Given the description of an element on the screen output the (x, y) to click on. 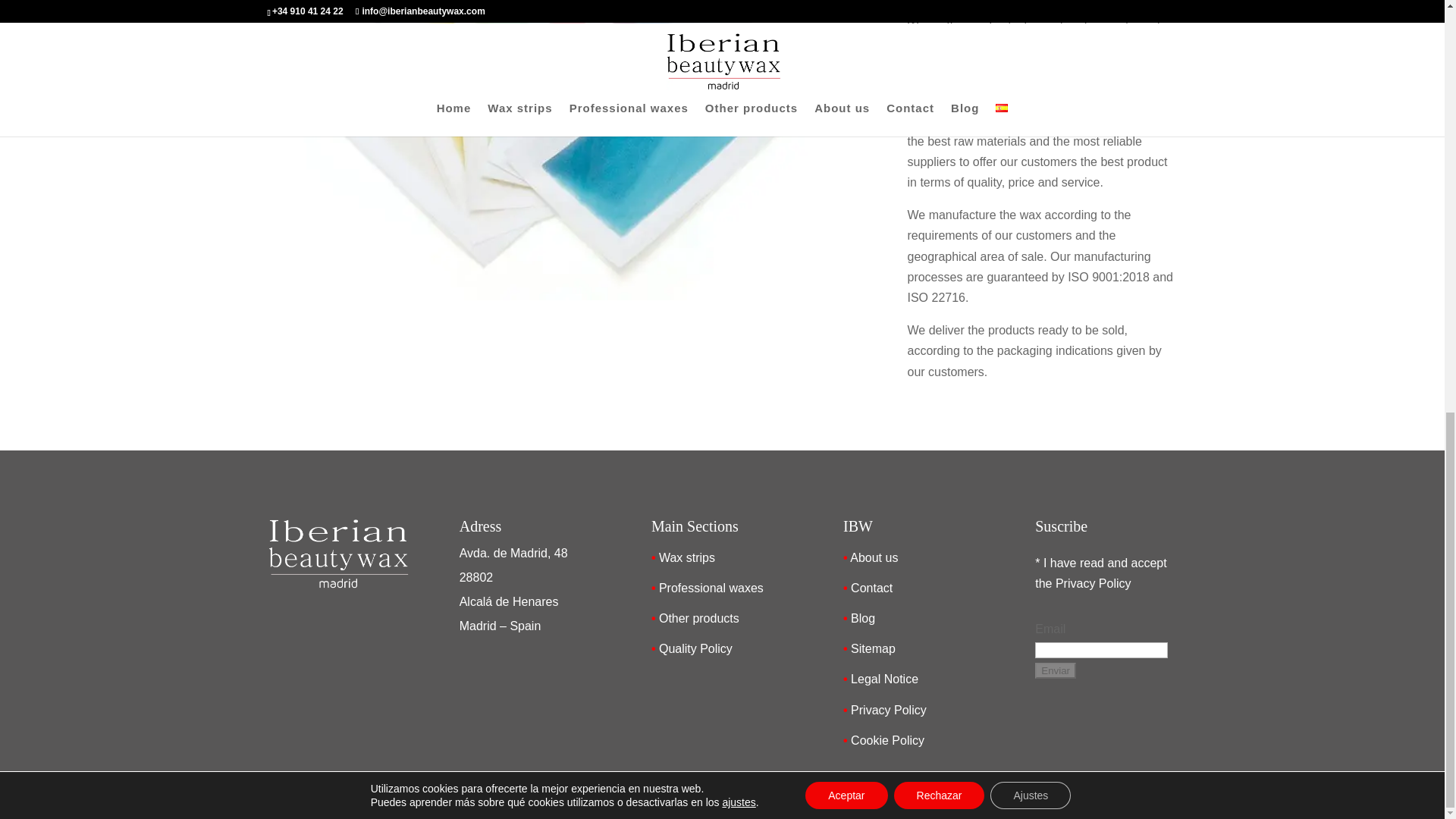
waxing-cold-wax-strips (561, 295)
Enviar (1055, 670)
Enviar (1055, 670)
NEW LOGO IBERIAN BLANCO (337, 553)
